Given the description of an element on the screen output the (x, y) to click on. 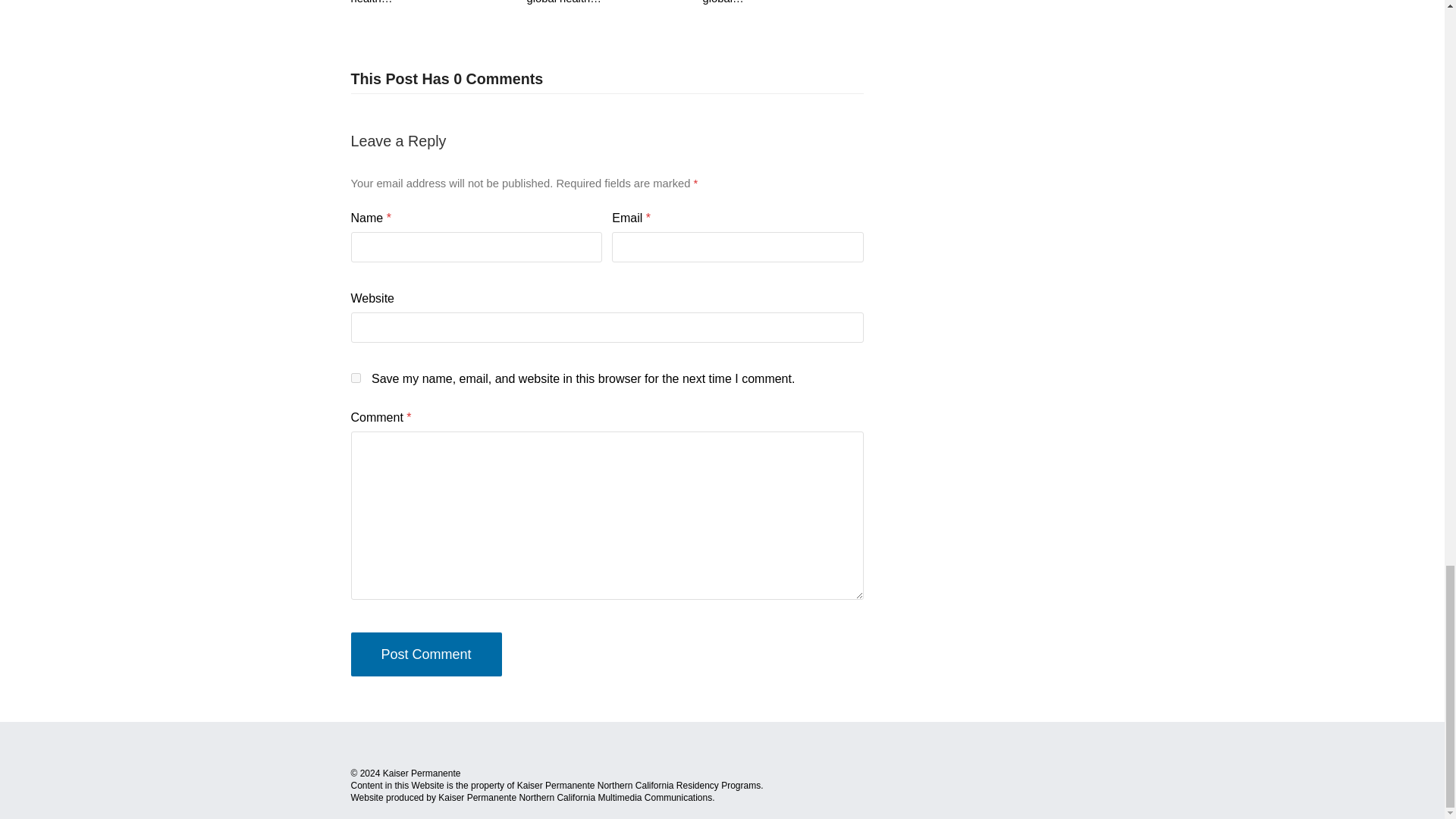
yes (354, 378)
Post Comment (425, 654)
Post Comment (425, 654)
